Given the description of an element on the screen output the (x, y) to click on. 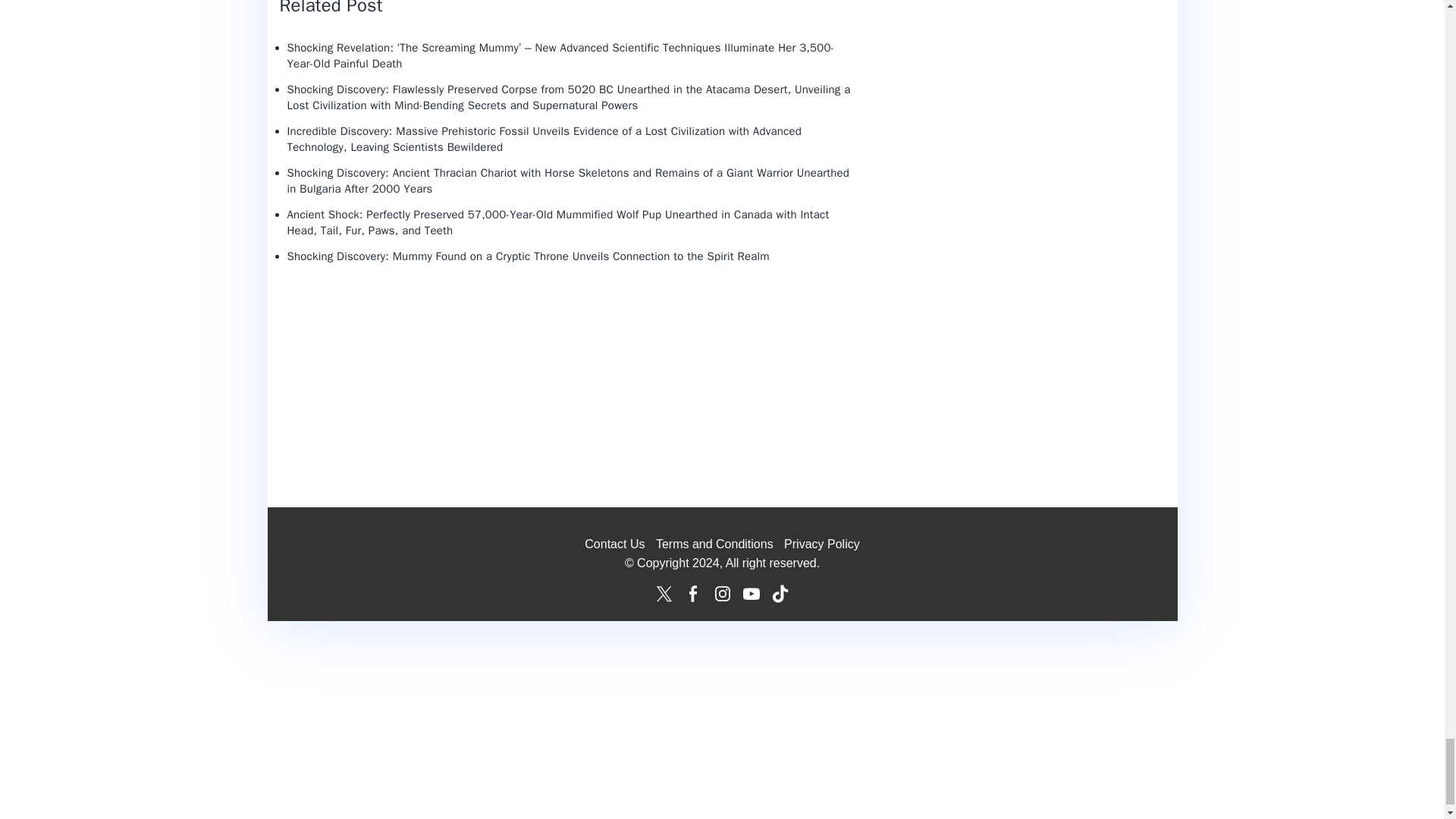
Privacy Policy (822, 543)
Contact Us (615, 543)
Terms and Conditions (714, 543)
